Given the description of an element on the screen output the (x, y) to click on. 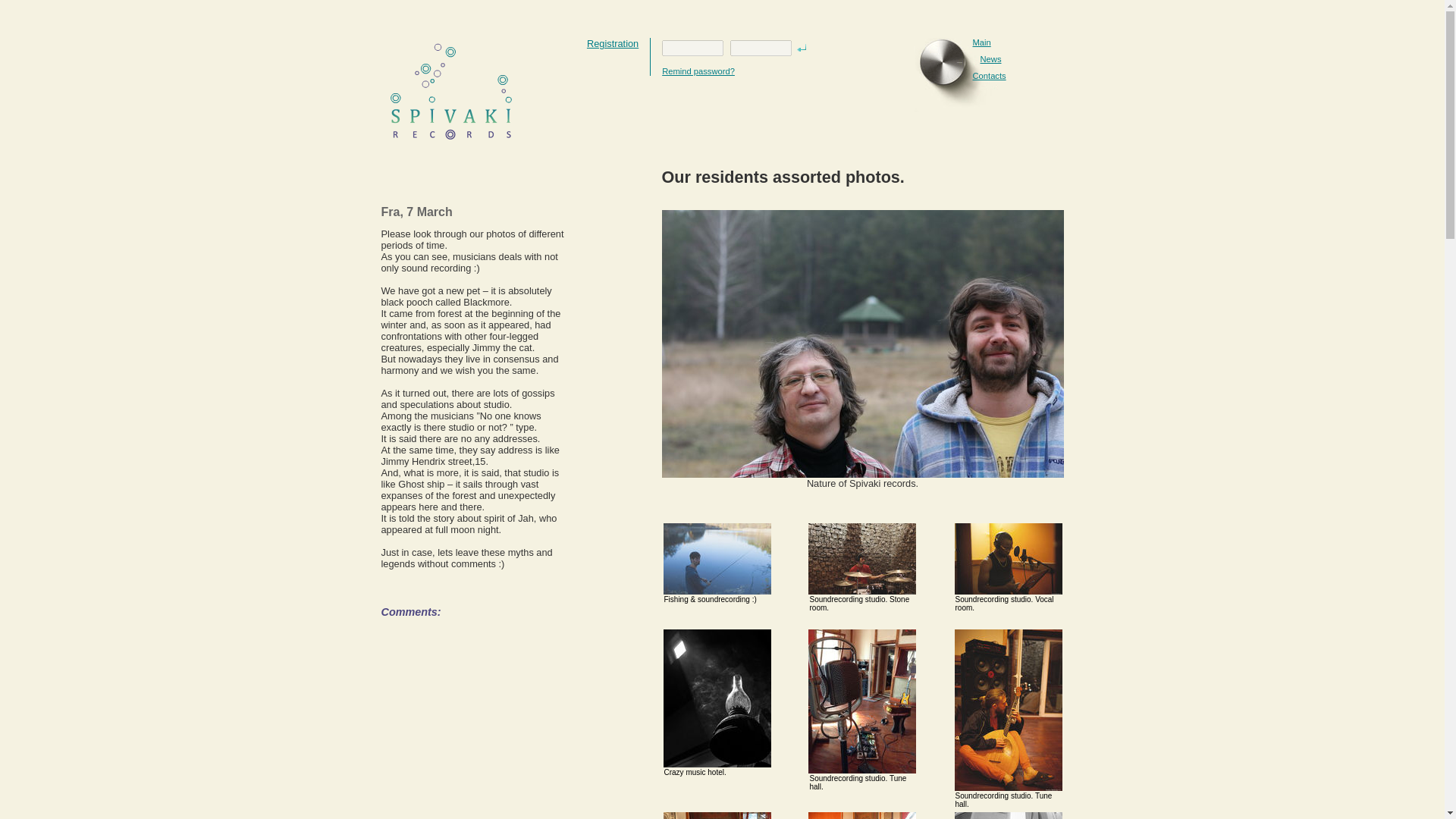
Registration (612, 43)
Remind password? (698, 71)
Main (981, 41)
Contacts (989, 75)
News (990, 58)
